Given the description of an element on the screen output the (x, y) to click on. 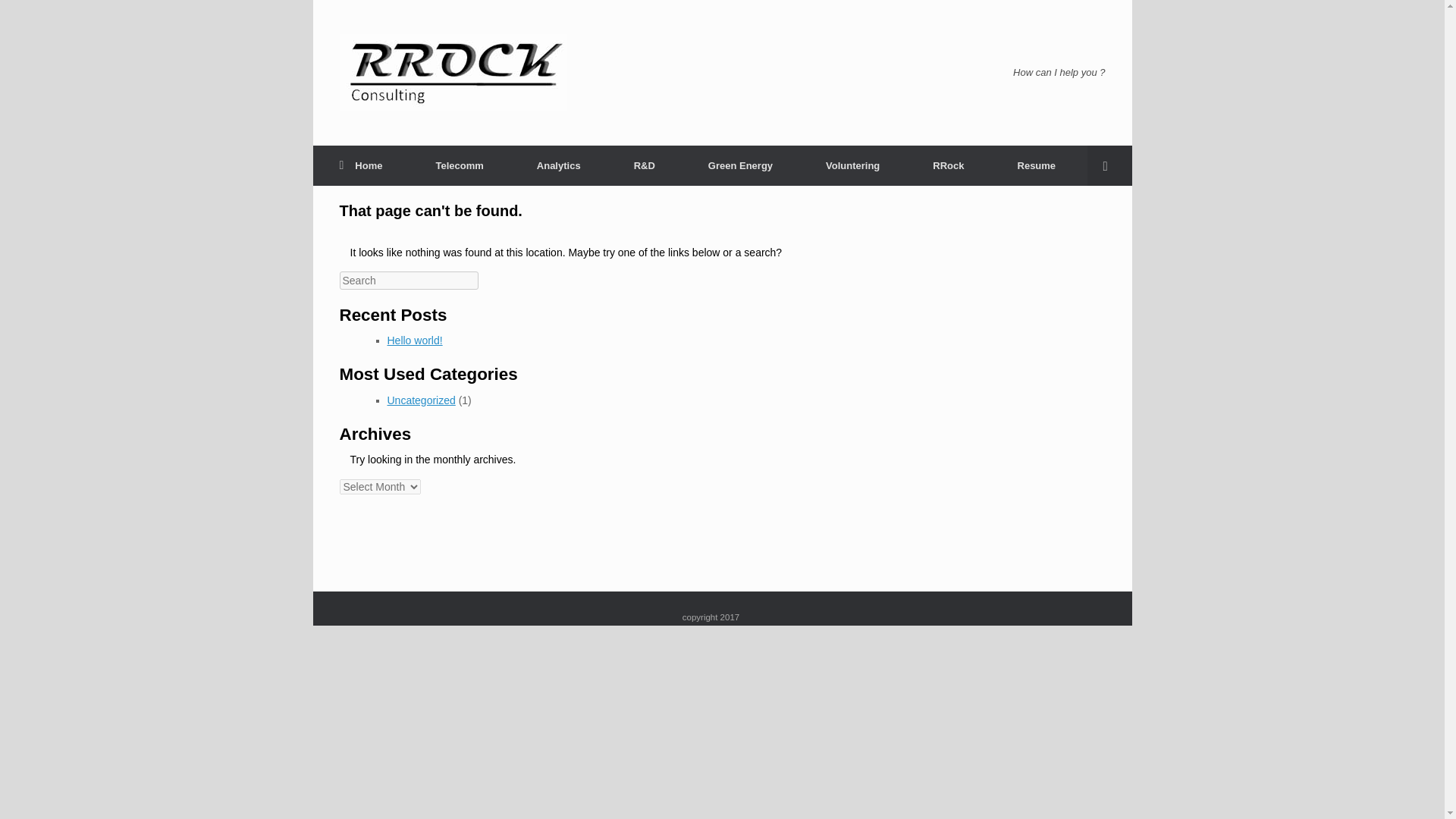
Resume (1037, 165)
Home (361, 165)
Hello world! (414, 340)
RRock (453, 72)
Voluntering (852, 165)
Analytics (559, 165)
Uncategorized (420, 399)
Telecomm (459, 165)
Green Energy (740, 165)
RRock (947, 165)
